Given the description of an element on the screen output the (x, y) to click on. 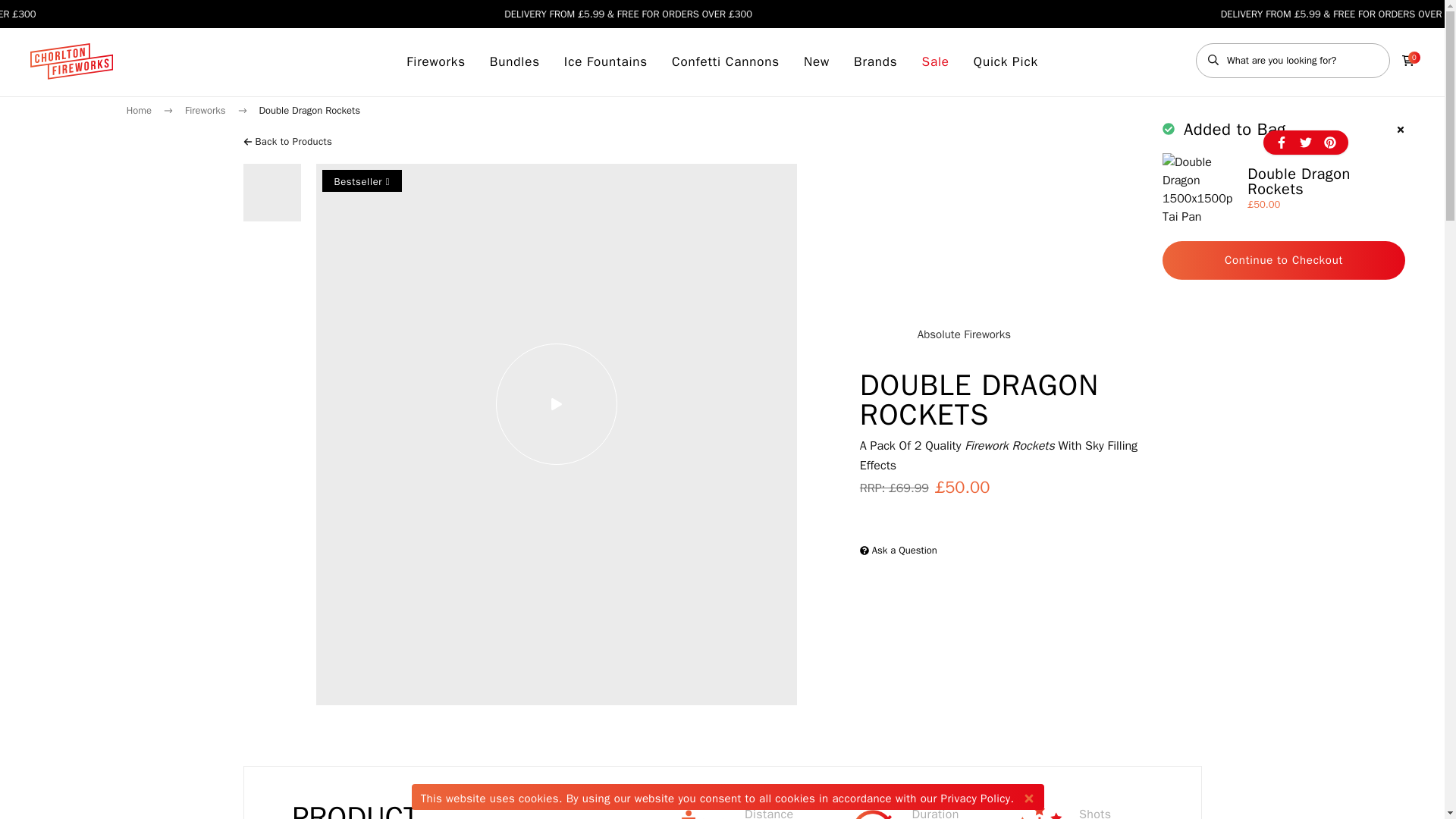
Quick Pick (1006, 62)
Bundles (514, 62)
Sale (935, 62)
Fireworks (435, 62)
New (816, 62)
Brands (874, 62)
Ice Fountains (605, 62)
Privacy Policy (975, 798)
Confetti Cannons (724, 62)
